Given the description of an element on the screen output the (x, y) to click on. 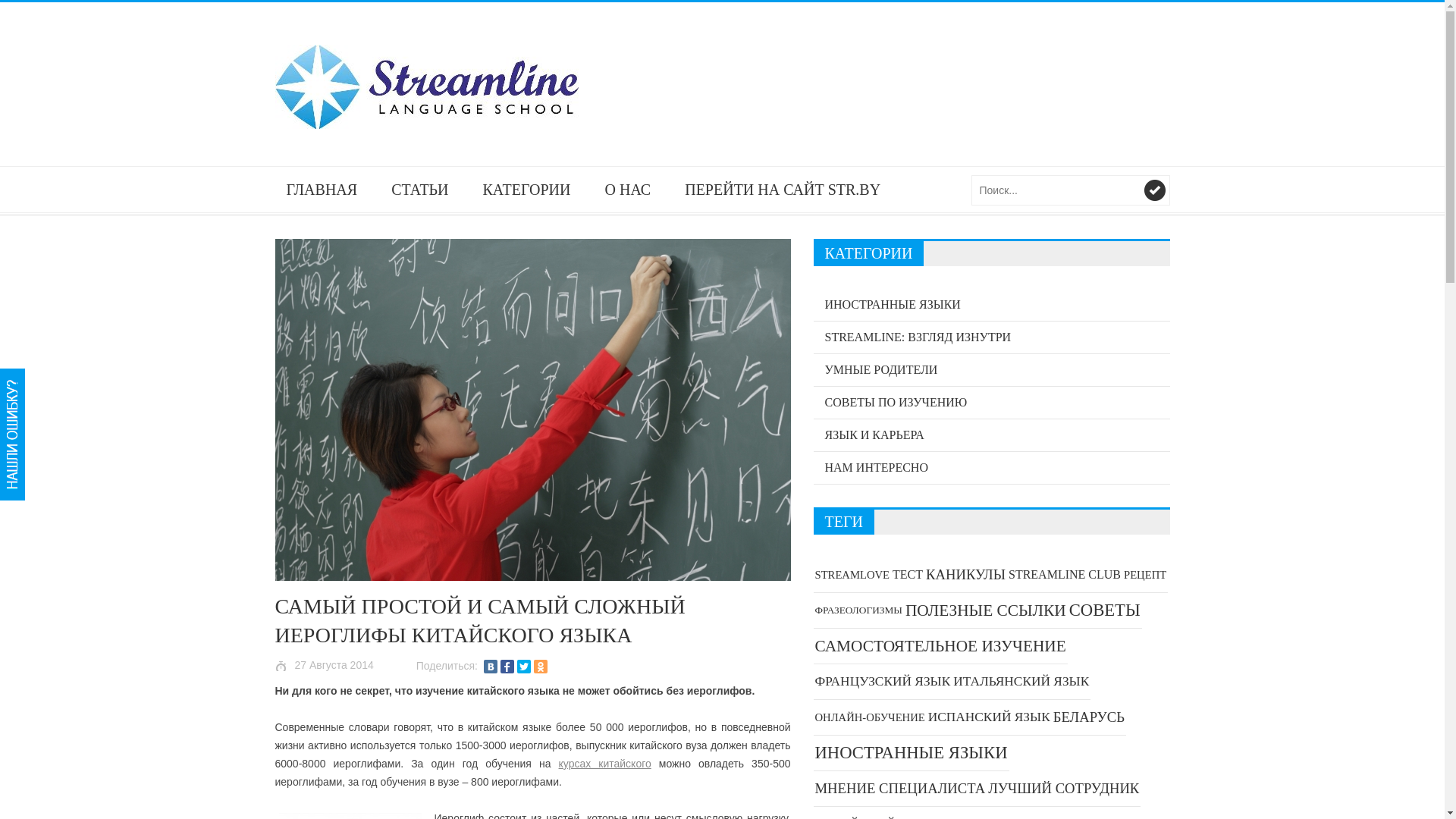
STREAMLOVE Element type: text (851, 575)
Search Element type: text (1153, 189)
Facebook Element type: hover (507, 666)
STREAMLINE CLUB Element type: text (1064, 575)
Twitter Element type: hover (523, 666)
